Given the description of an element on the screen output the (x, y) to click on. 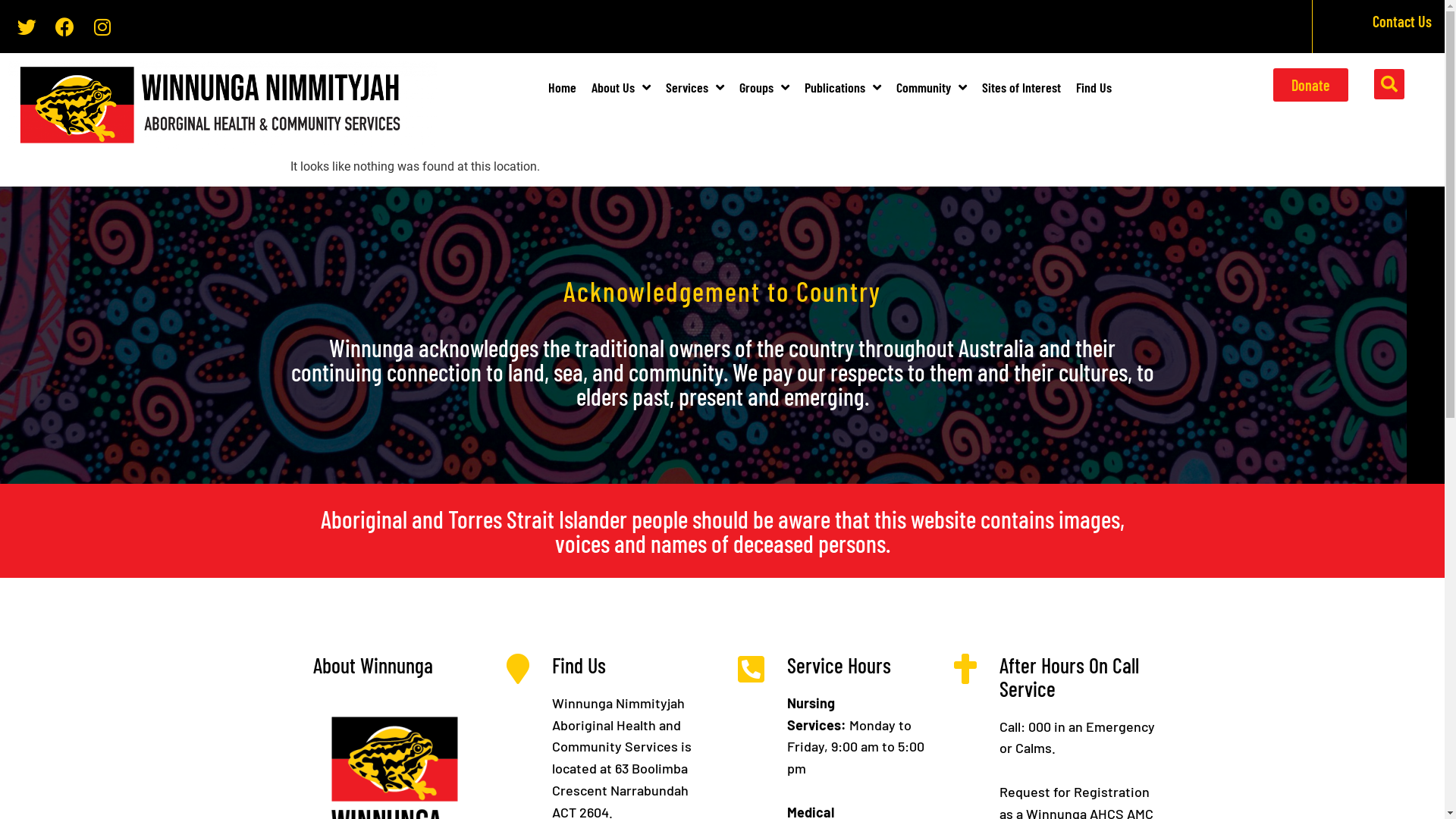
Contact Us Element type: text (1401, 21)
Donate Element type: text (1310, 84)
Find Us Element type: text (1093, 87)
About Us Element type: text (620, 87)
Community Element type: text (931, 87)
Home Element type: text (561, 87)
Services Element type: text (694, 87)
Publications Element type: text (842, 87)
Sites of Interest Element type: text (1021, 87)
Groups Element type: text (764, 87)
